Given the description of an element on the screen output the (x, y) to click on. 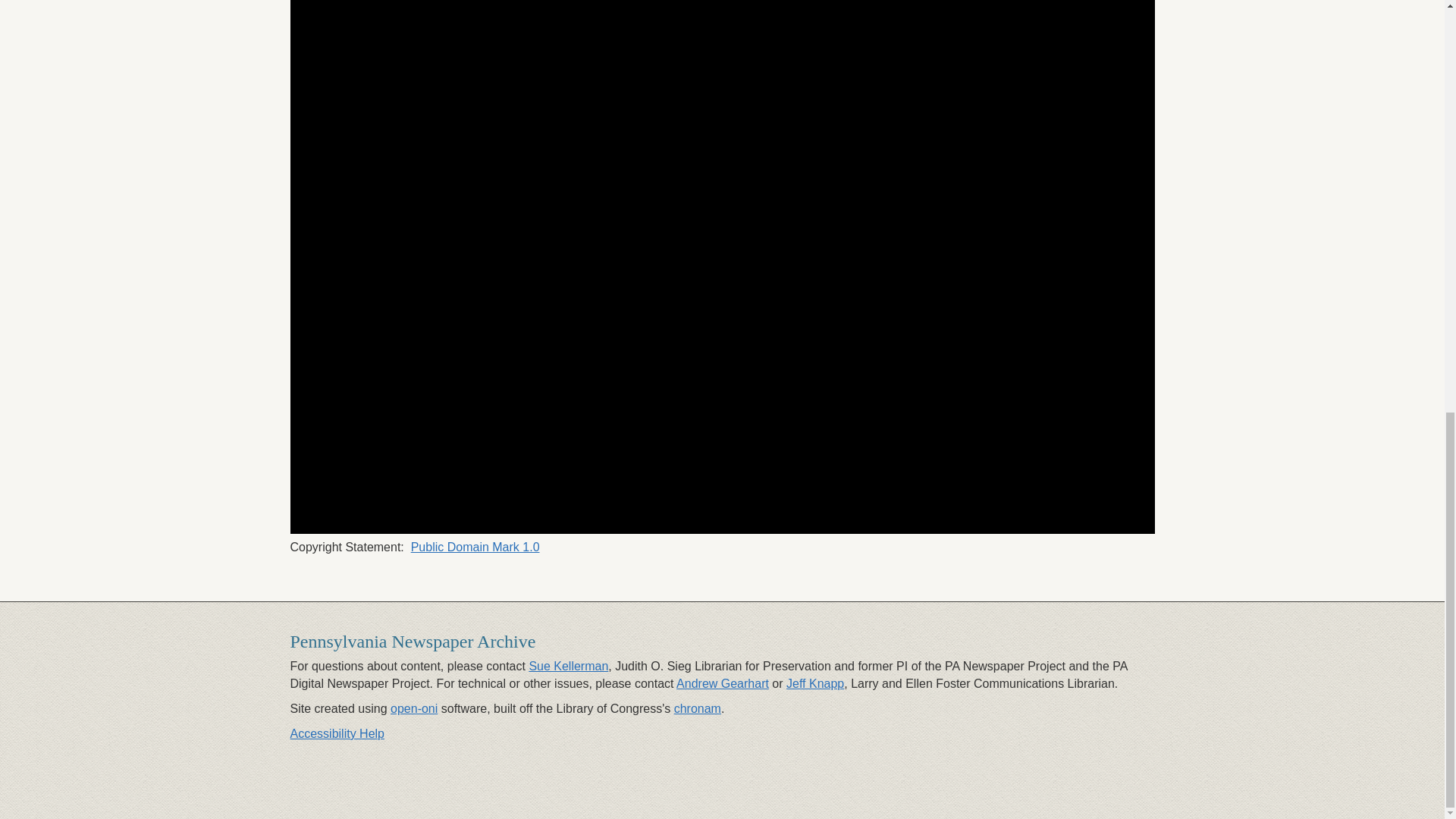
chronam (697, 707)
Sue Kellerman (568, 666)
Public Domain Mark 1.0 (475, 546)
Andrew Gearhart (722, 683)
Jeff Knapp (815, 683)
open-oni (414, 707)
Accessibility Help (336, 733)
